Given the description of an element on the screen output the (x, y) to click on. 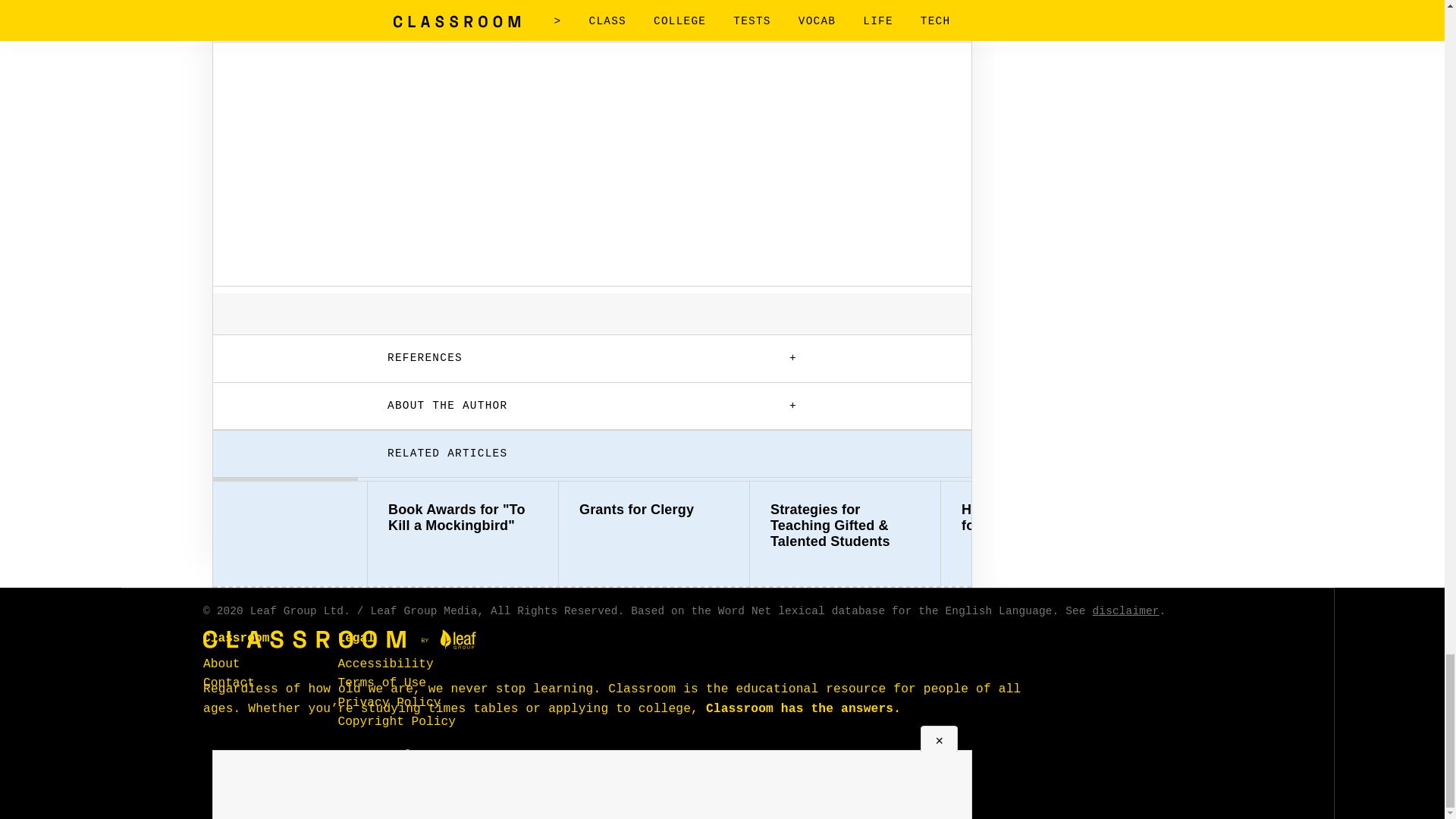
Book Awards for "To Kill a Mockingbird" (462, 517)
Advertisement (591, 162)
Writing Contests for Teens to Win Money (1227, 517)
About (221, 663)
How to Write an Essay for a Contest (1035, 517)
Grants for Clergy (654, 509)
